Given the description of an element on the screen output the (x, y) to click on. 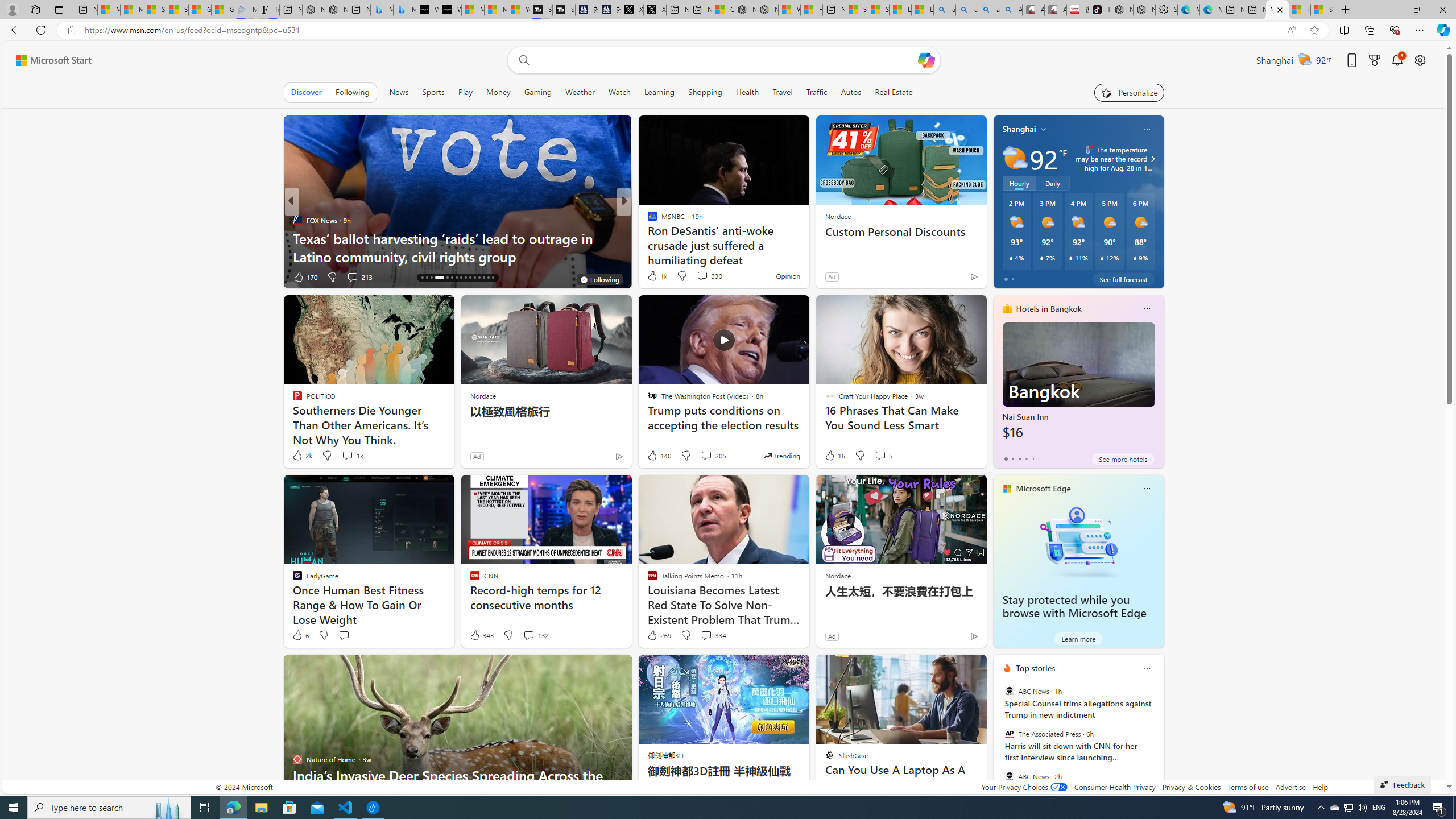
Streaming Coverage | T3 (541, 9)
18 Like (652, 276)
AutomationID: tab-19 (439, 277)
Partly sunny (1014, 158)
5 Like (651, 276)
My location (1043, 128)
Class: weather-arrow-glyph (1152, 158)
Personalize your feed" (1129, 92)
1k Like (656, 275)
All Cubot phones (1055, 9)
Gaming (537, 92)
